Given the description of an element on the screen output the (x, y) to click on. 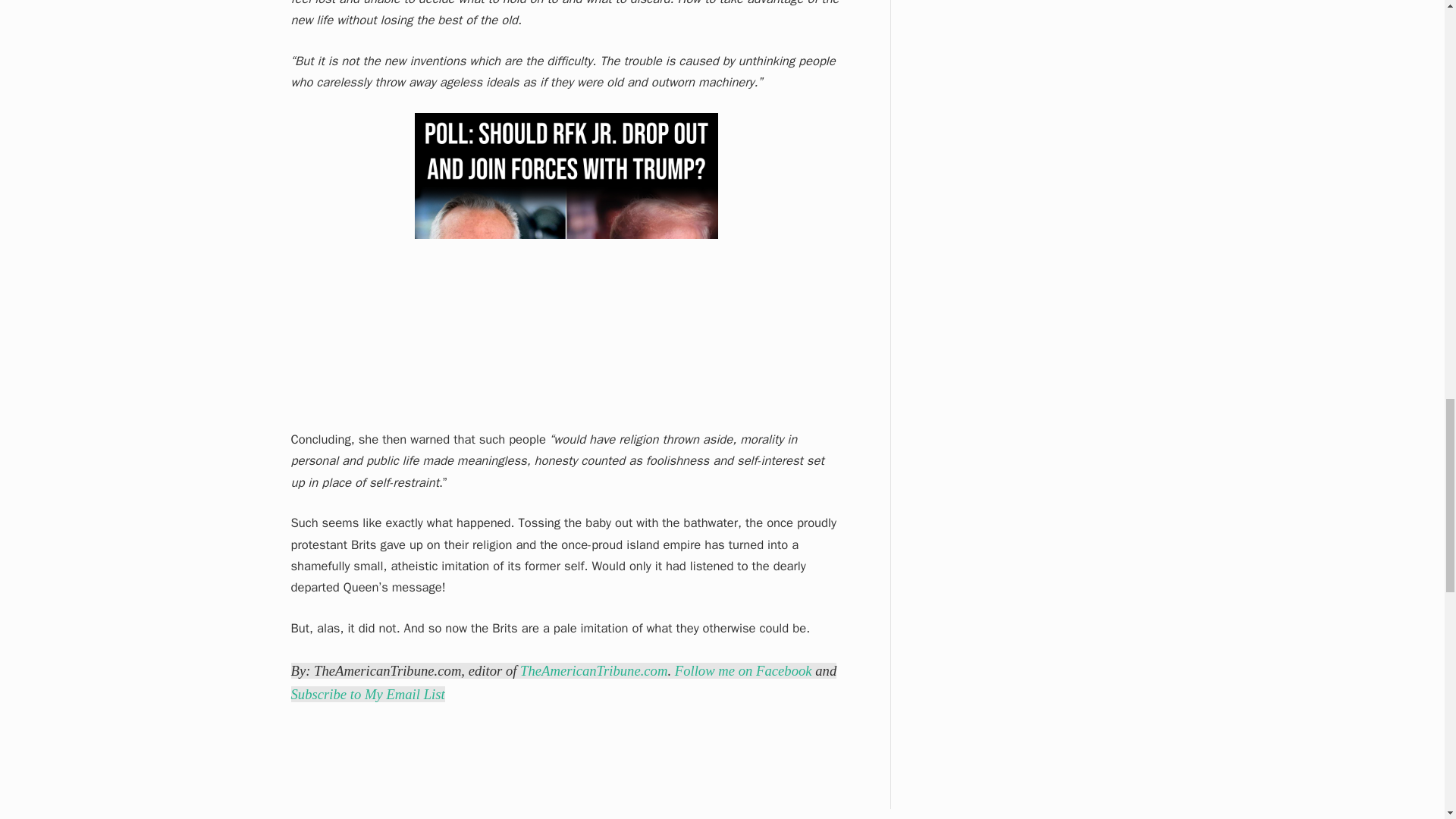
TheAmericanTribune.com (592, 670)
Follow me on Facebook (743, 670)
Subscribe to My Email List (368, 693)
